Given the description of an element on the screen output the (x, y) to click on. 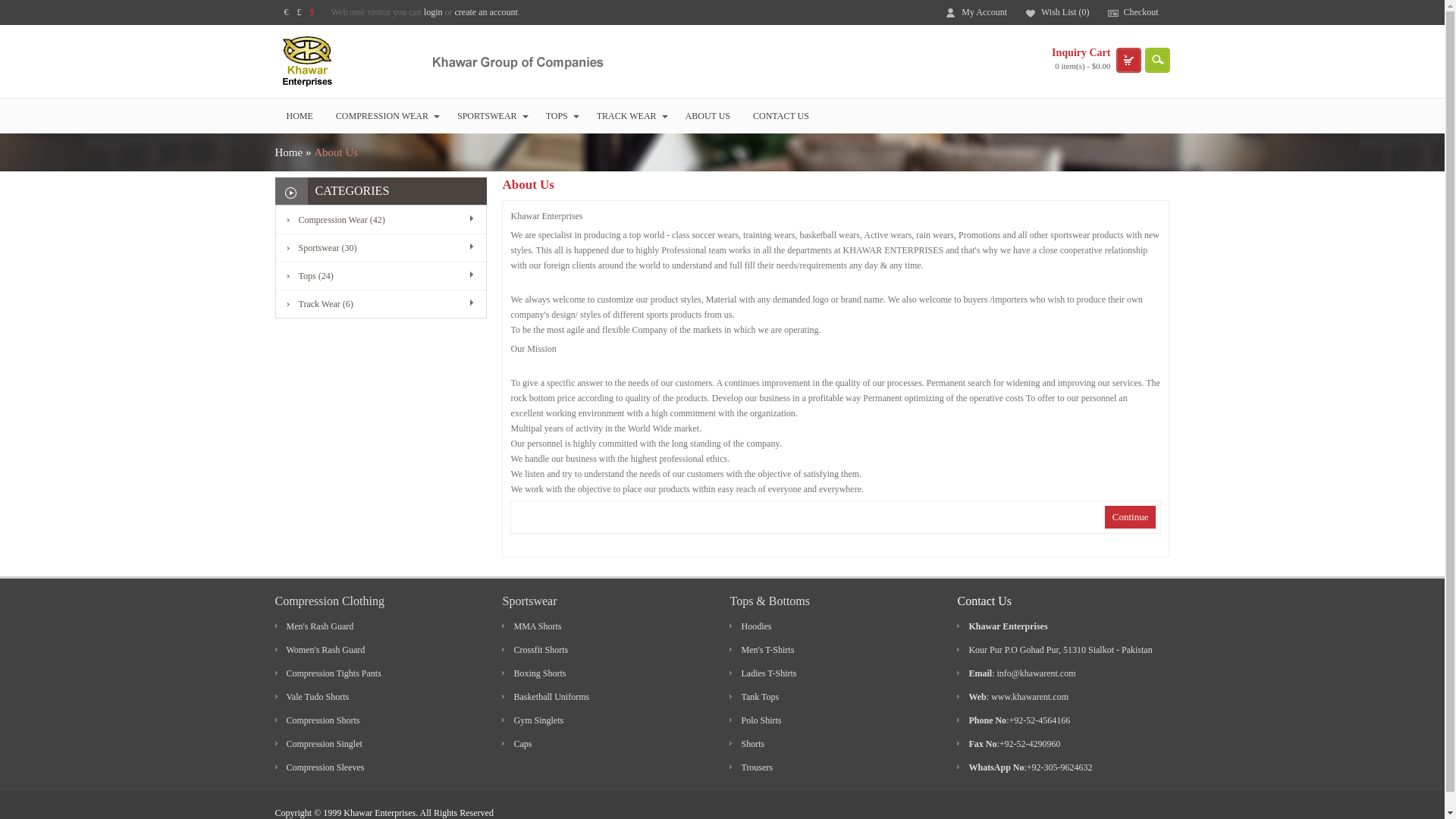
Euro (286, 11)
create an account (486, 11)
Pound Sterling (299, 11)
US Dollar (311, 11)
SPORTSWEAR (489, 115)
HOME (299, 115)
My Account (978, 12)
search (1156, 60)
TOPS (559, 115)
login (432, 11)
COMPRESSION WEAR (384, 115)
Khawar Enterprises (438, 61)
Checkout (1135, 12)
